Given the description of an element on the screen output the (x, y) to click on. 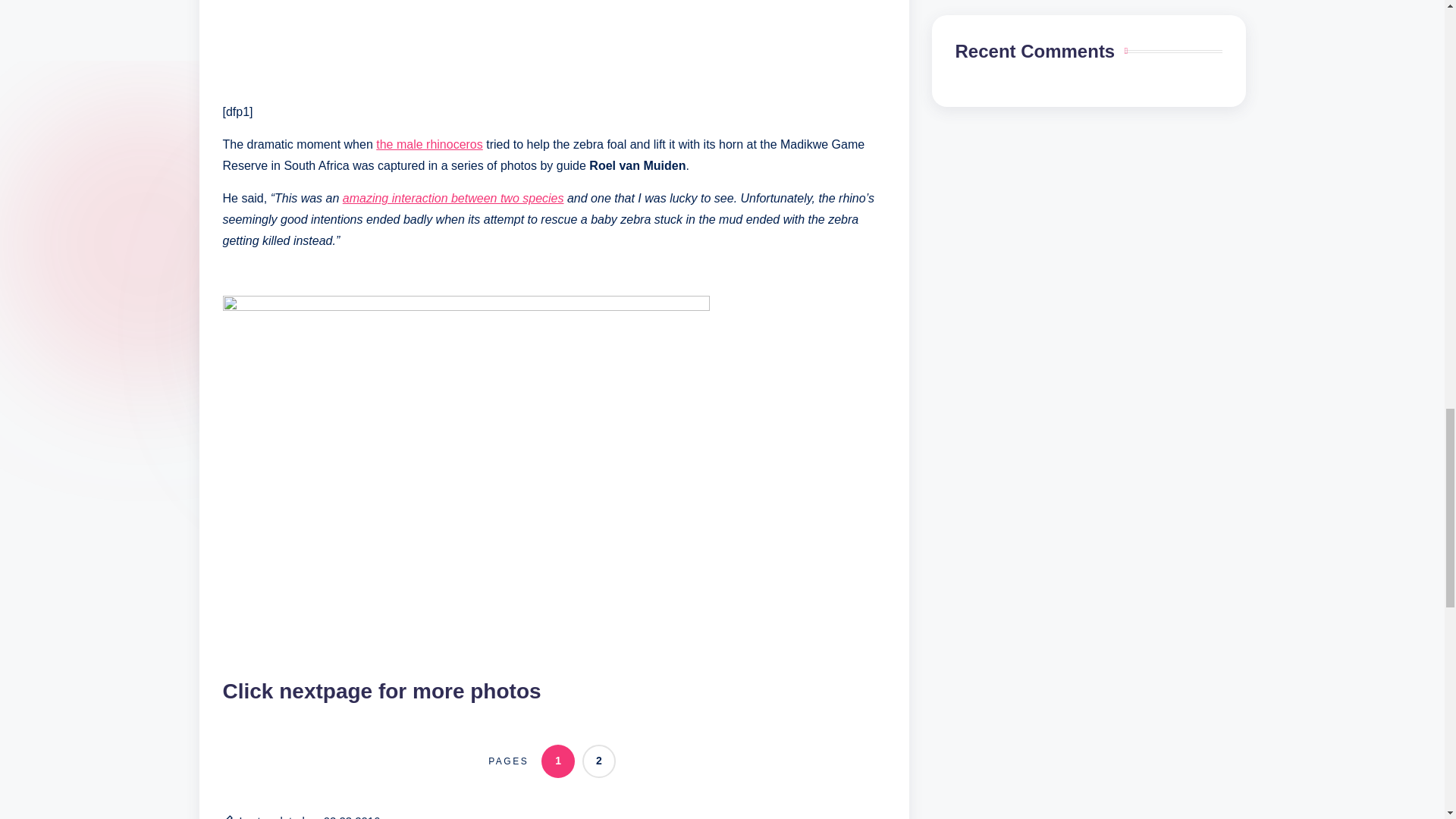
Incredible Bonding between a Lion and a Dog (453, 197)
2 (599, 760)
amazing interaction between two species (453, 197)
the male rhinoceros (429, 144)
Last Male White Rhino (429, 144)
